Given the description of an element on the screen output the (x, y) to click on. 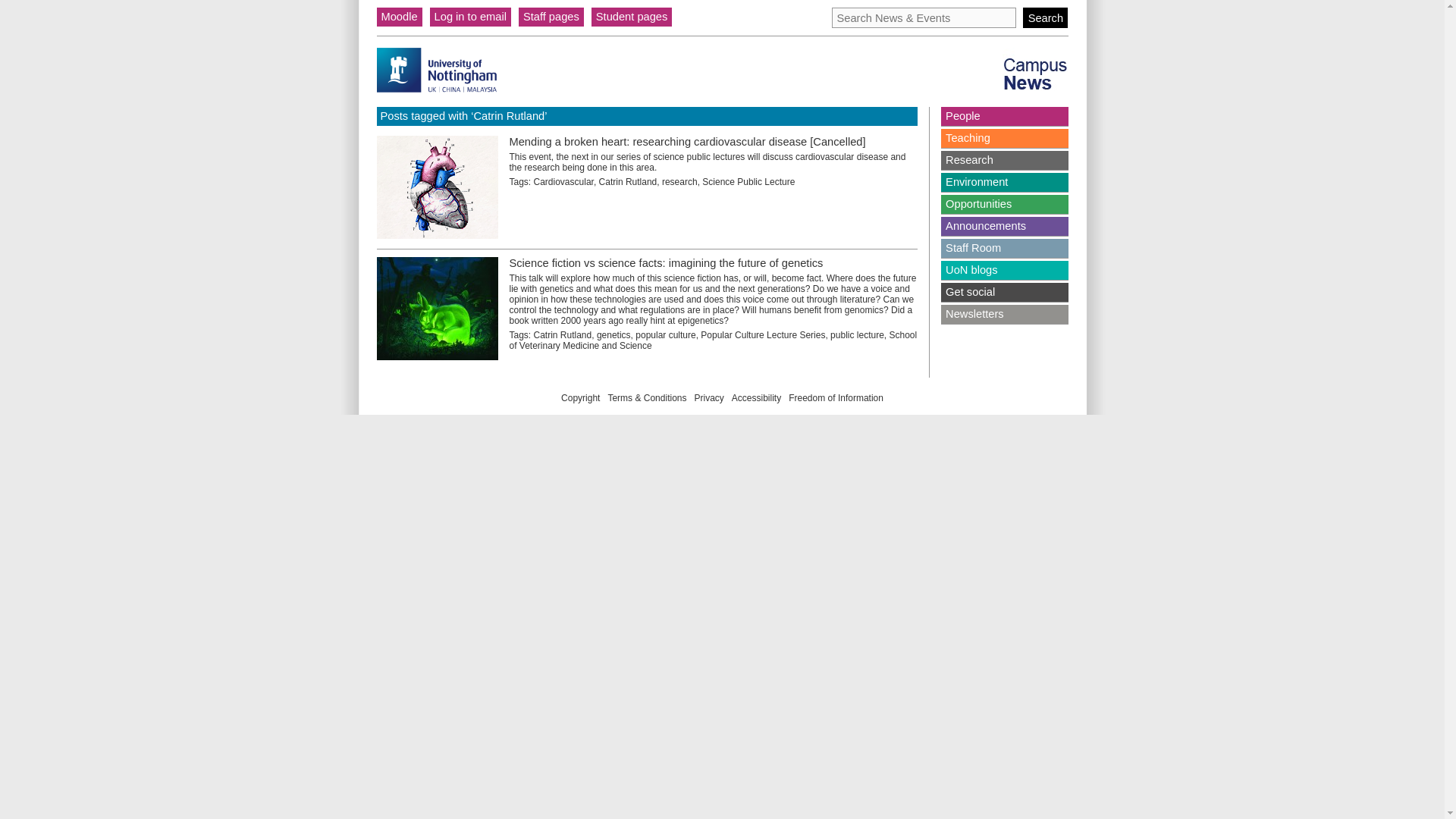
Copyright (579, 398)
Announcements (1003, 226)
Environment (1003, 181)
Popular Culture Lecture Series (762, 335)
Staff pages (550, 16)
Freedom of Information (836, 398)
UoN blogs (1003, 270)
Copyright (579, 398)
Accessibility (756, 398)
Staff Room (1003, 248)
